Given the description of an element on the screen output the (x, y) to click on. 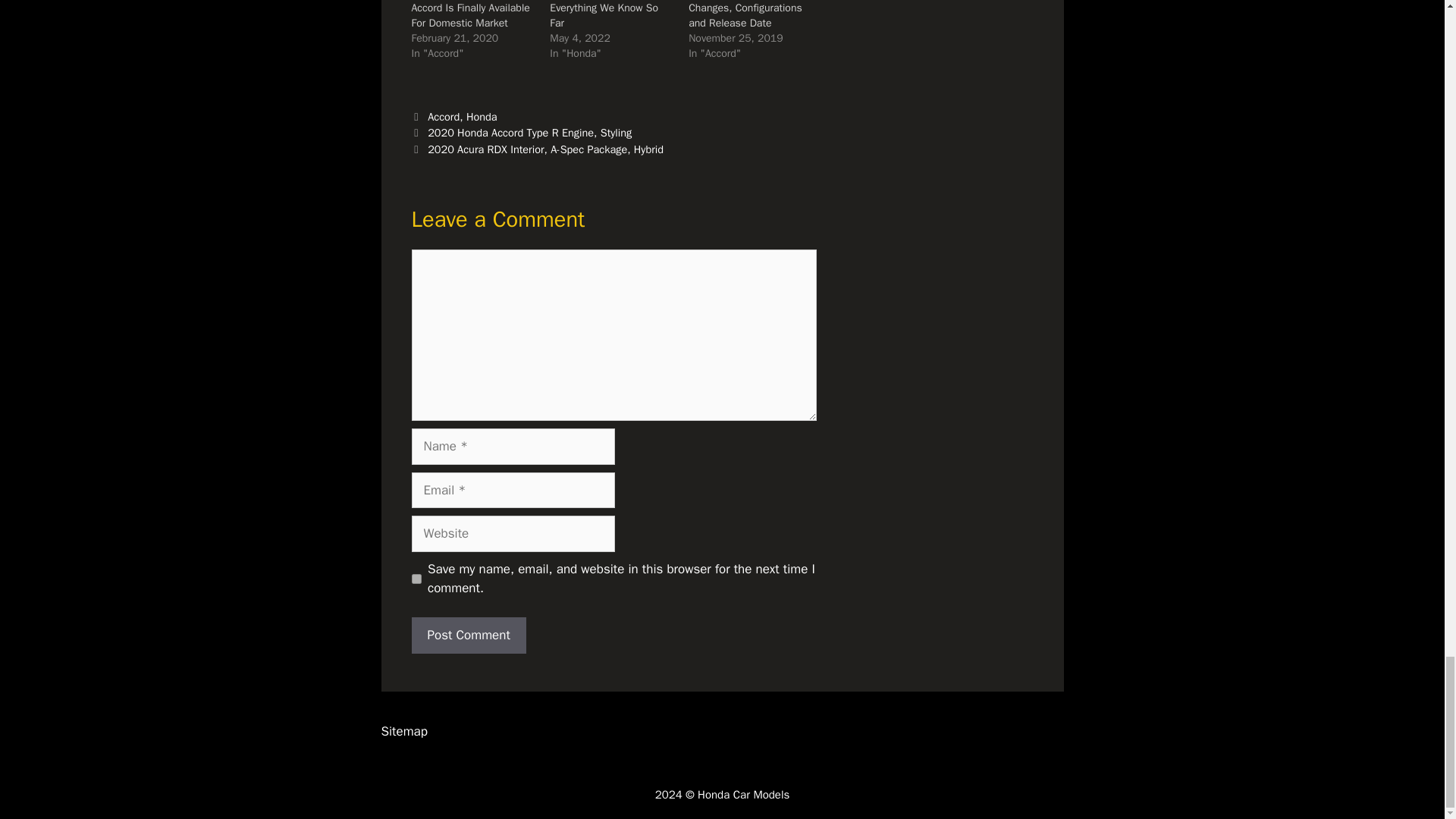
Post Comment (467, 635)
2020 Honda Accord Type R Engine, Styling (529, 132)
Accord (444, 116)
2020 Acura RDX Interior, A-Spec Package, Hybrid (545, 149)
Post Comment (467, 635)
yes (415, 578)
2024 Honda Accord: Everything We Know So Far (604, 14)
2021 Honda Accord Changes, Configurations and Release Date (745, 14)
Sitemap (403, 731)
2024 Honda Accord: Everything We Know So Far (604, 14)
Honda (481, 116)
2021 Honda Accord Changes, Configurations and Release Date (745, 14)
